Given the description of an element on the screen output the (x, y) to click on. 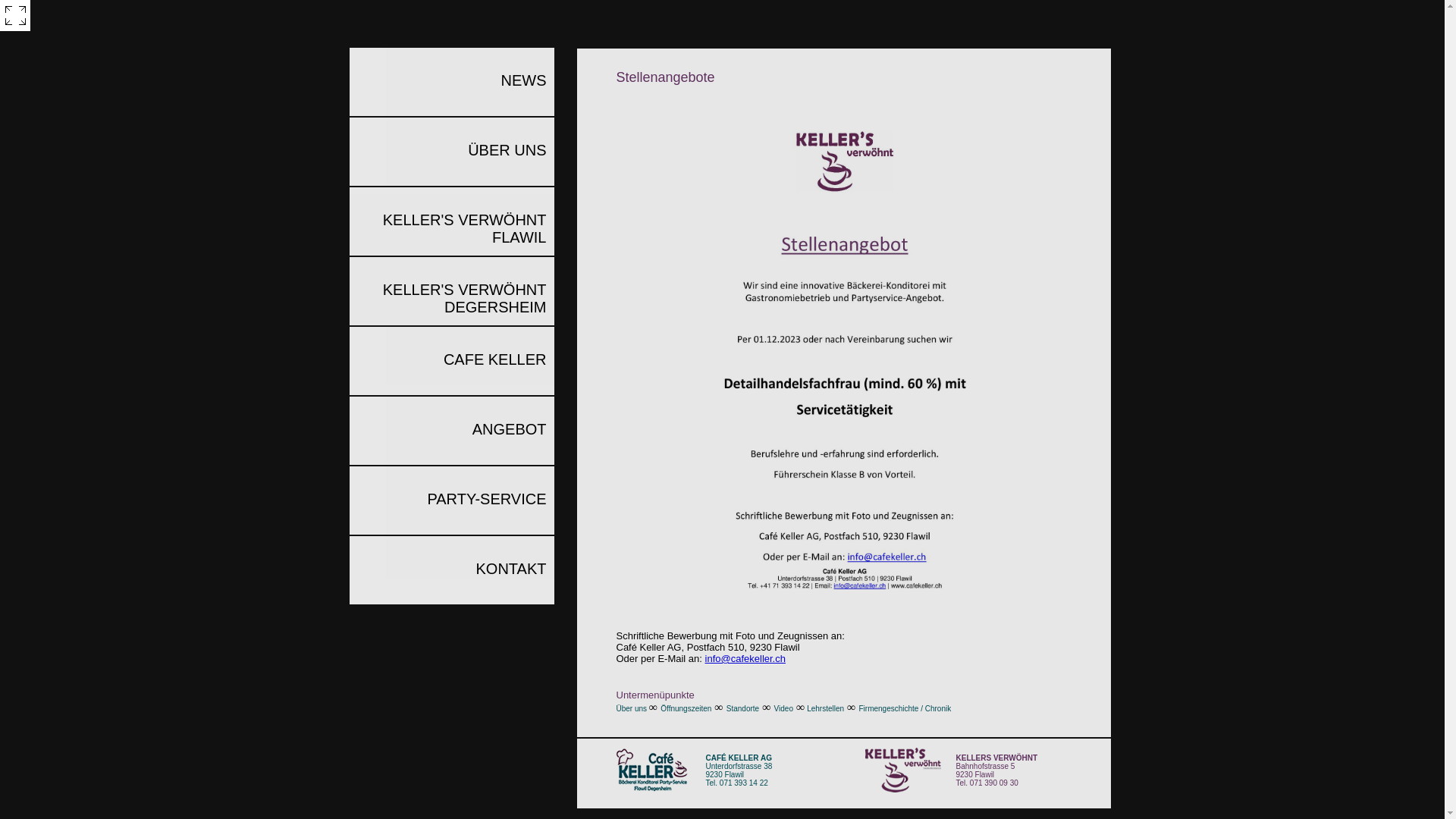
Video Element type: text (783, 708)
NEWS Element type: text (450, 81)
PARTY-SERVICE Element type: text (450, 500)
CAFE KELLER Element type: text (450, 360)
Firmengeschichte / Chronik Element type: text (904, 708)
KONTAKT Element type: text (450, 570)
Stelle Verkauf Element type: hover (844, 363)
Standorte Element type: text (742, 708)
info@cafekeller.ch Element type: text (745, 658)
Lehrstellen Element type: text (825, 708)
ANGEBOT Element type: text (450, 430)
